Given the description of an element on the screen output the (x, y) to click on. 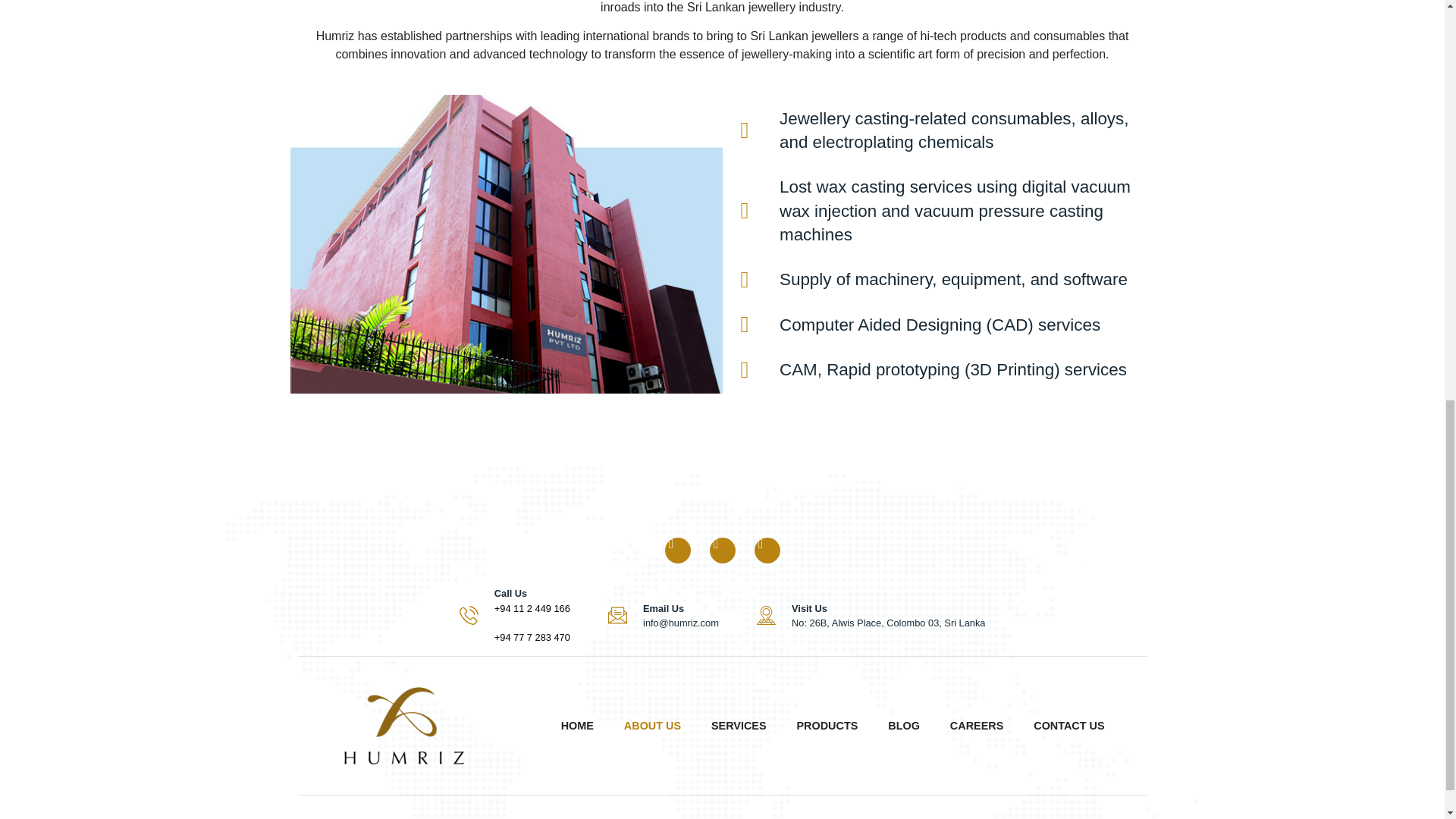
ABOUT US (652, 725)
SERVICES (739, 725)
HOME (577, 725)
CONTACT US (1068, 725)
CAREERS (976, 725)
BLOG (904, 725)
PRODUCTS (827, 725)
